Given the description of an element on the screen output the (x, y) to click on. 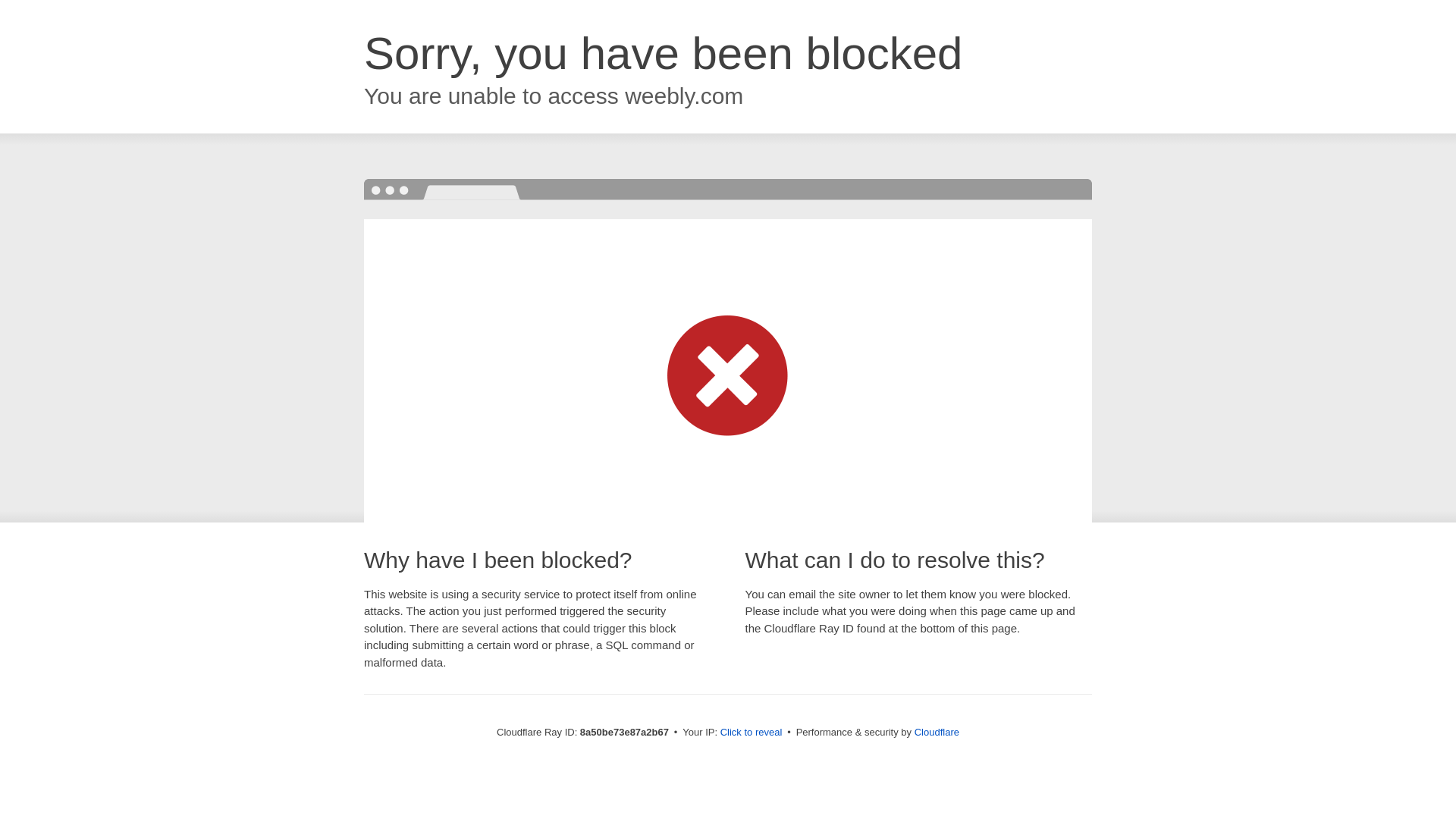
Cloudflare (936, 731)
Click to reveal (751, 732)
